Given the description of an element on the screen output the (x, y) to click on. 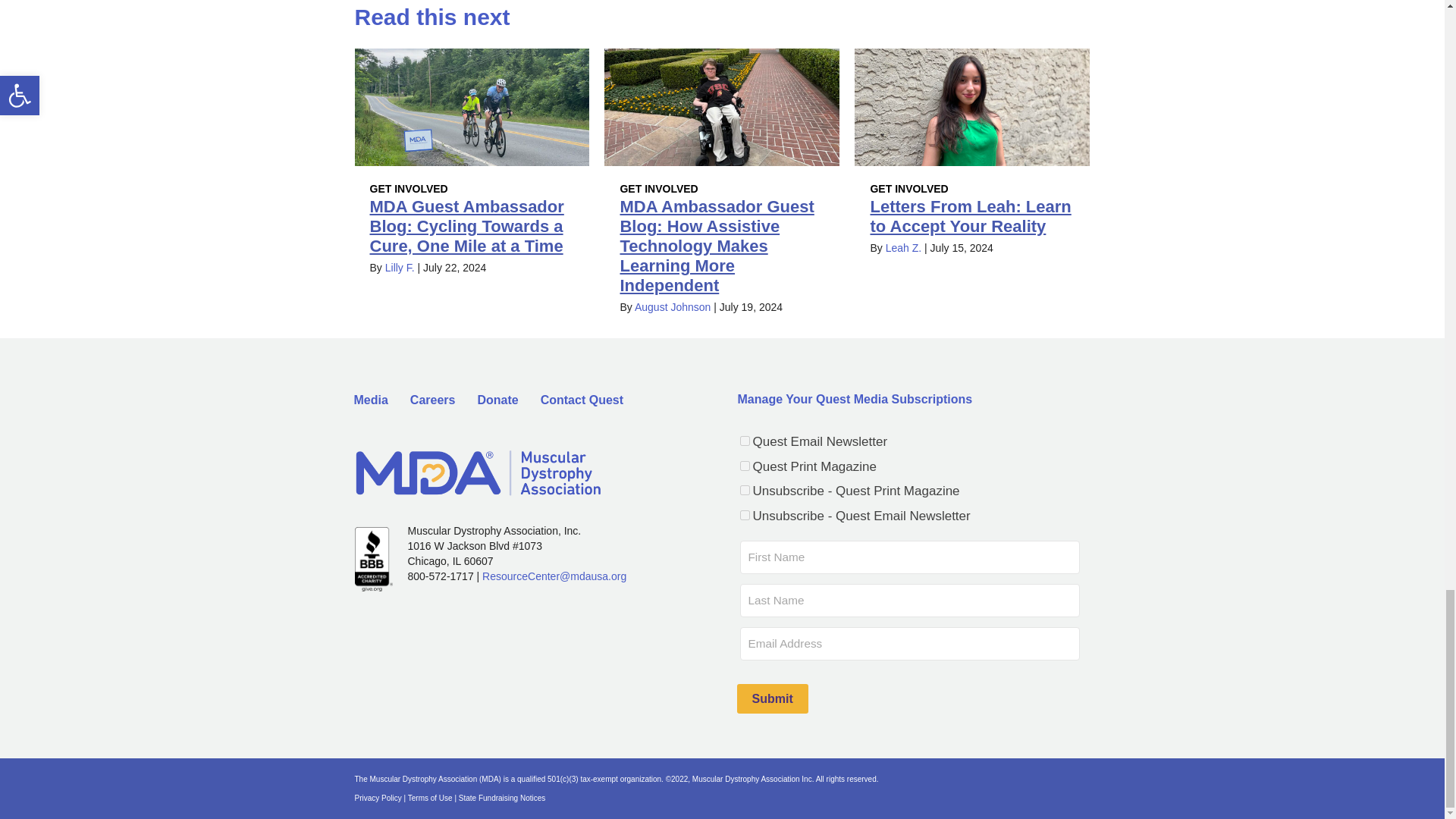
Submit (772, 698)
